Given the description of an element on the screen output the (x, y) to click on. 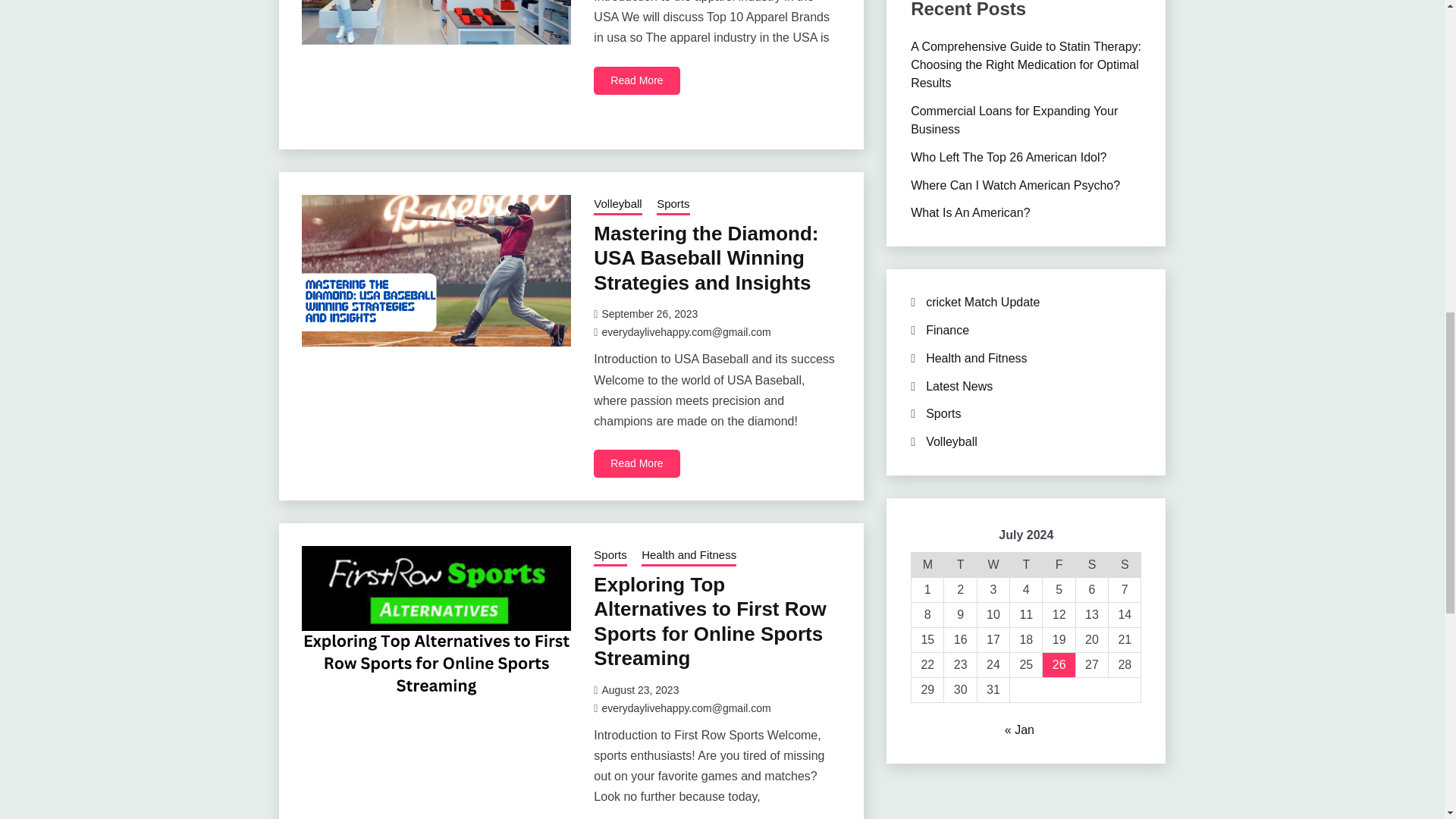
Sports (672, 205)
Saturday (1091, 565)
Read More (636, 80)
Friday (1058, 565)
Monday (927, 565)
Sunday (1124, 565)
Tuesday (959, 565)
Volleyball (618, 205)
Thursday (1026, 565)
Wednesday (992, 565)
